Given the description of an element on the screen output the (x, y) to click on. 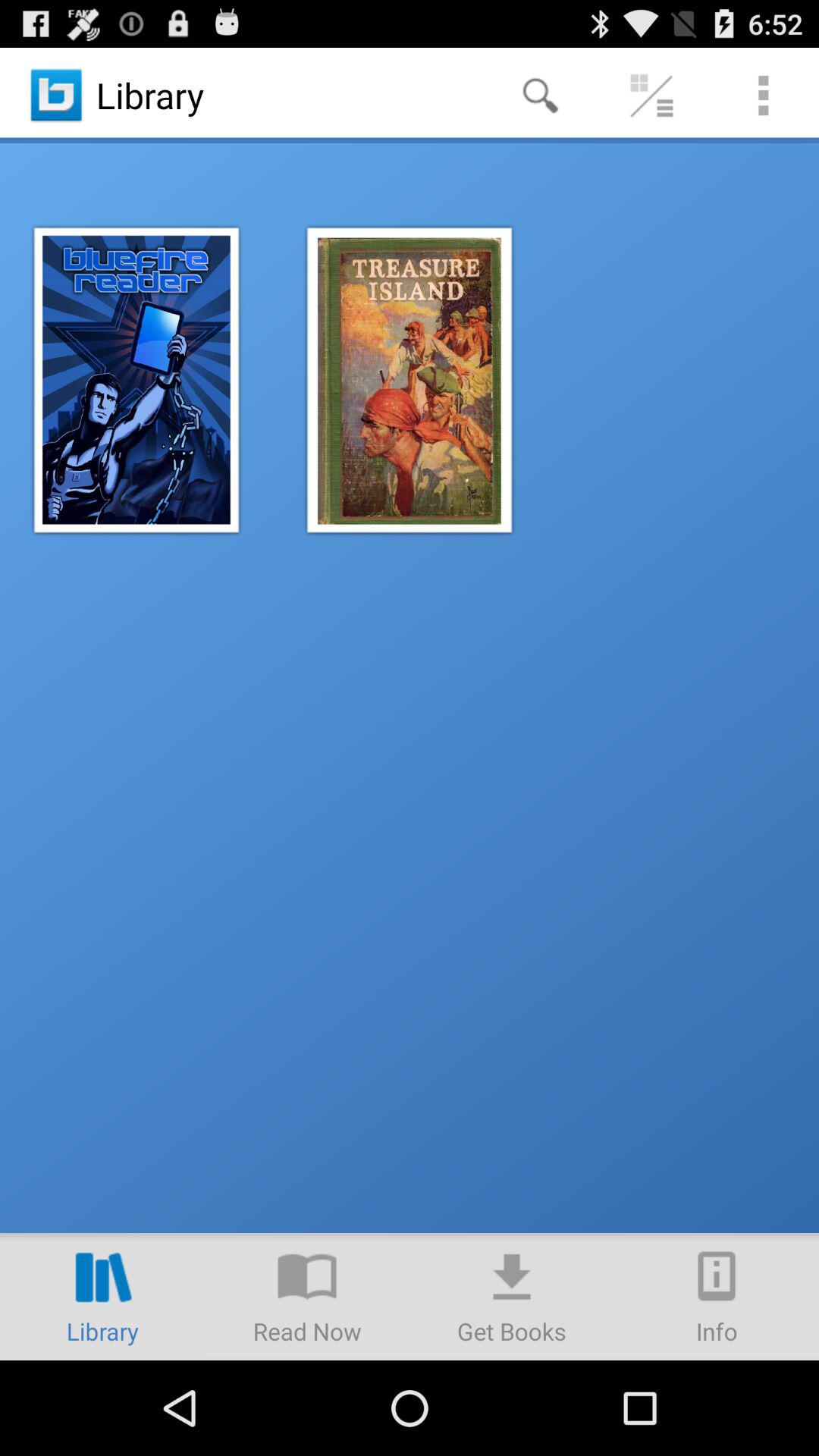
launch icon at the bottom left corner (102, 1296)
